Given the description of an element on the screen output the (x, y) to click on. 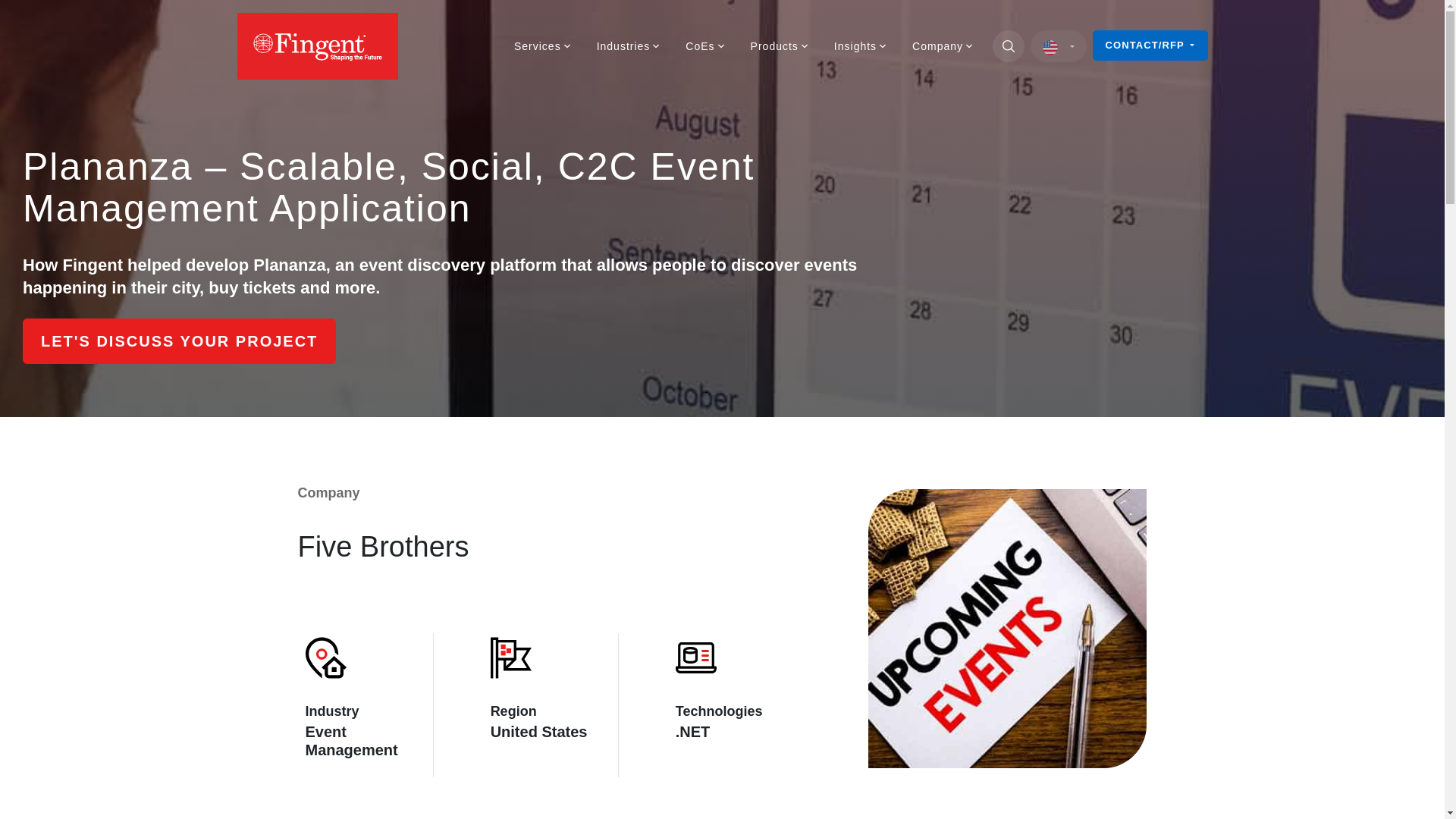
Services (543, 46)
